Given the description of an element on the screen output the (x, y) to click on. 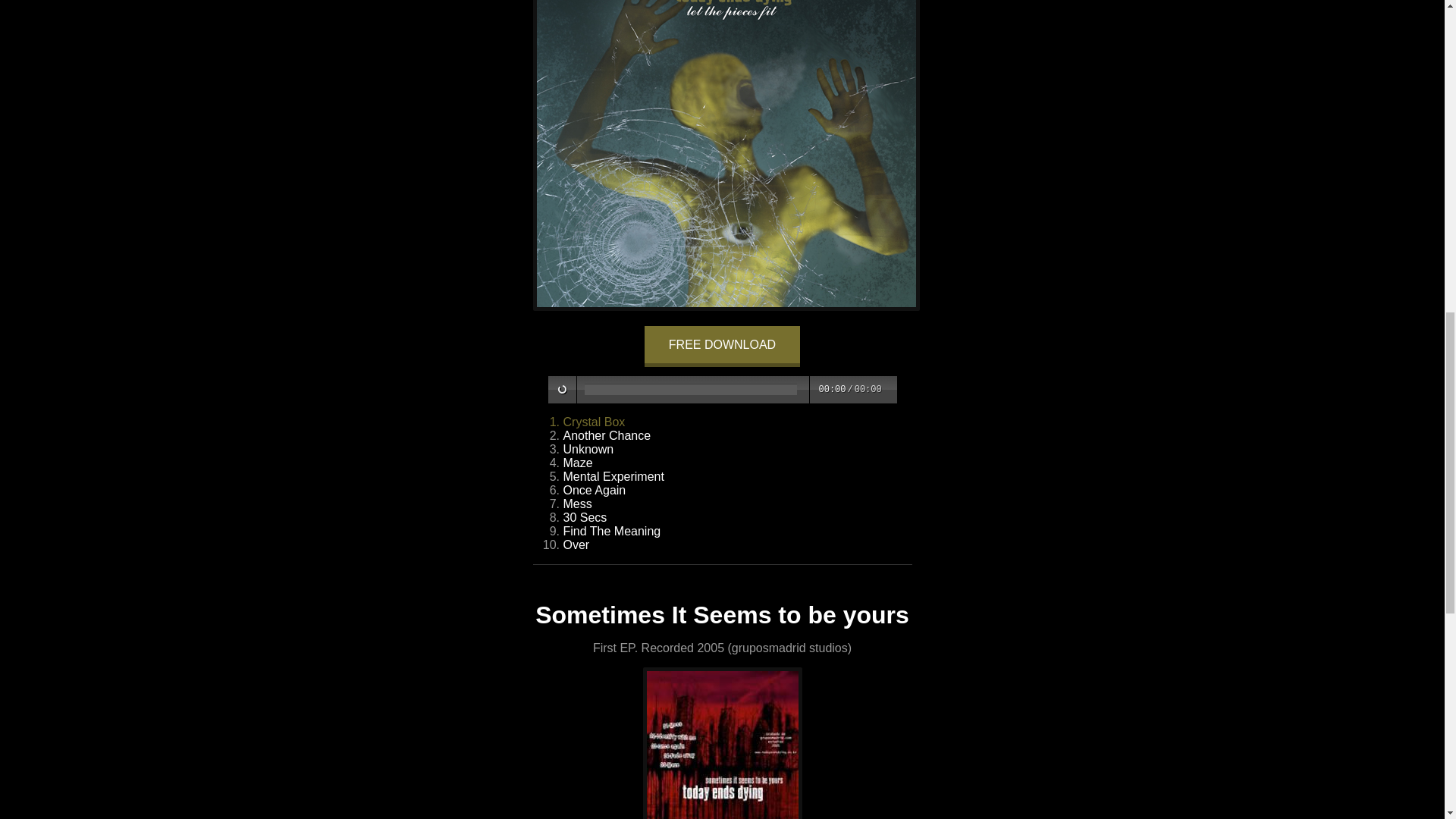
Mess (576, 503)
FREE DOWNLOAD (722, 345)
Another Chance (606, 435)
Mental Experiment (612, 476)
Unknown (587, 449)
Over (575, 544)
Maze (577, 462)
Once Again (594, 490)
Crystal Box (593, 421)
Find The Meaning (611, 530)
